Given the description of an element on the screen output the (x, y) to click on. 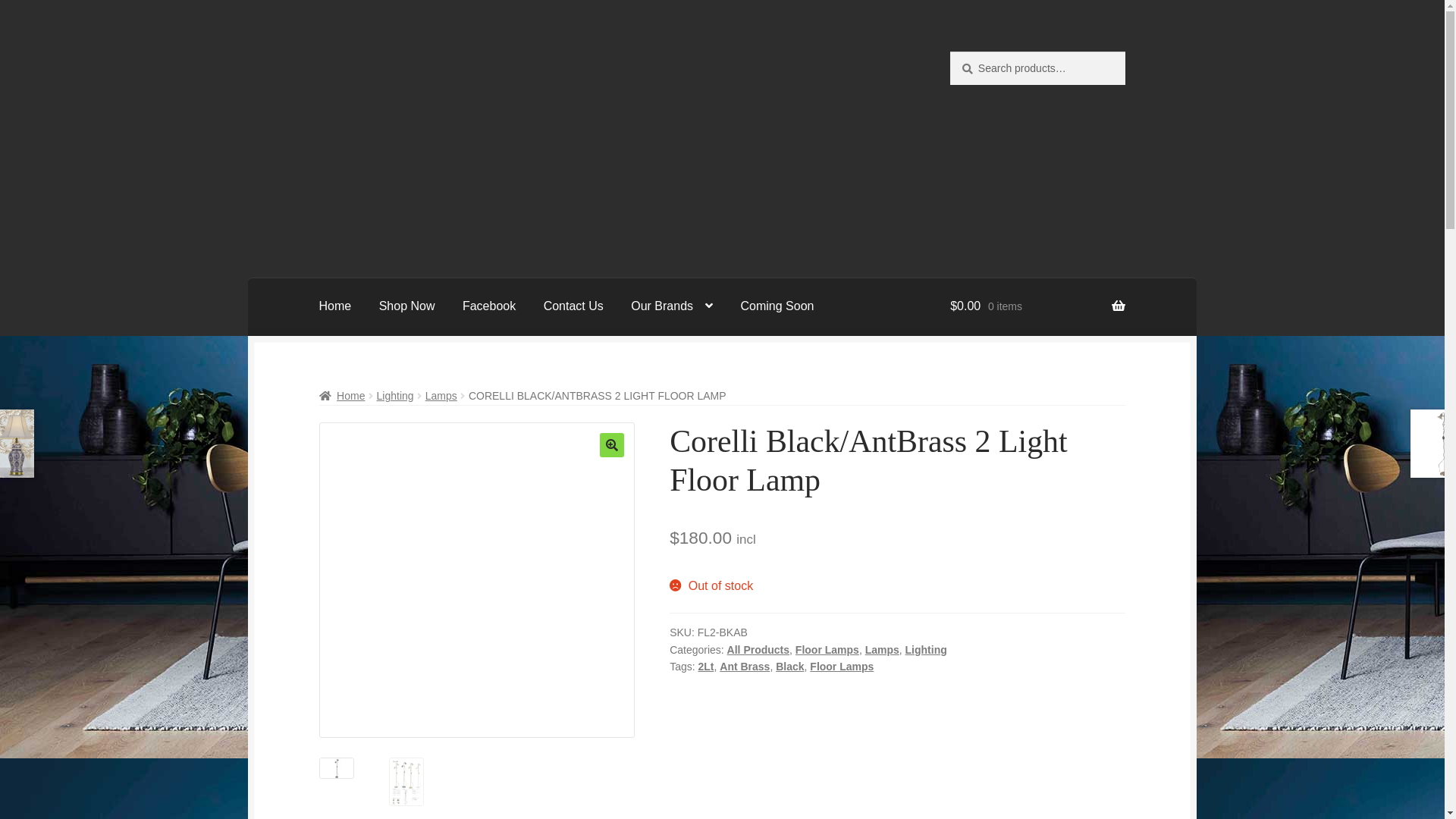
Corelli-FL2-AB Element type: hover (792, 579)
Our Brands Element type: text (671, 306)
Untitled Element type: hover (476, 579)
2Lt Element type: text (705, 666)
Search Element type: text (949, 50)
Skip to navigation Element type: text (318, 50)
Black Element type: text (789, 666)
Lighting Element type: text (926, 649)
Contact Us Element type: text (573, 306)
Lamps Element type: text (441, 395)
Facebook Element type: text (488, 306)
Home Element type: text (342, 395)
$0.00 0 items Element type: text (1037, 306)
All Products Element type: text (758, 649)
Shop Now Element type: text (407, 306)
Coming Soon Element type: text (777, 306)
Lamps Element type: text (882, 649)
Home Element type: text (335, 306)
Ant Brass Element type: text (744, 666)
Floor Lamps Element type: text (841, 666)
Floor Lamps Element type: text (827, 649)
Lighting Element type: text (395, 395)
